Given the description of an element on the screen output the (x, y) to click on. 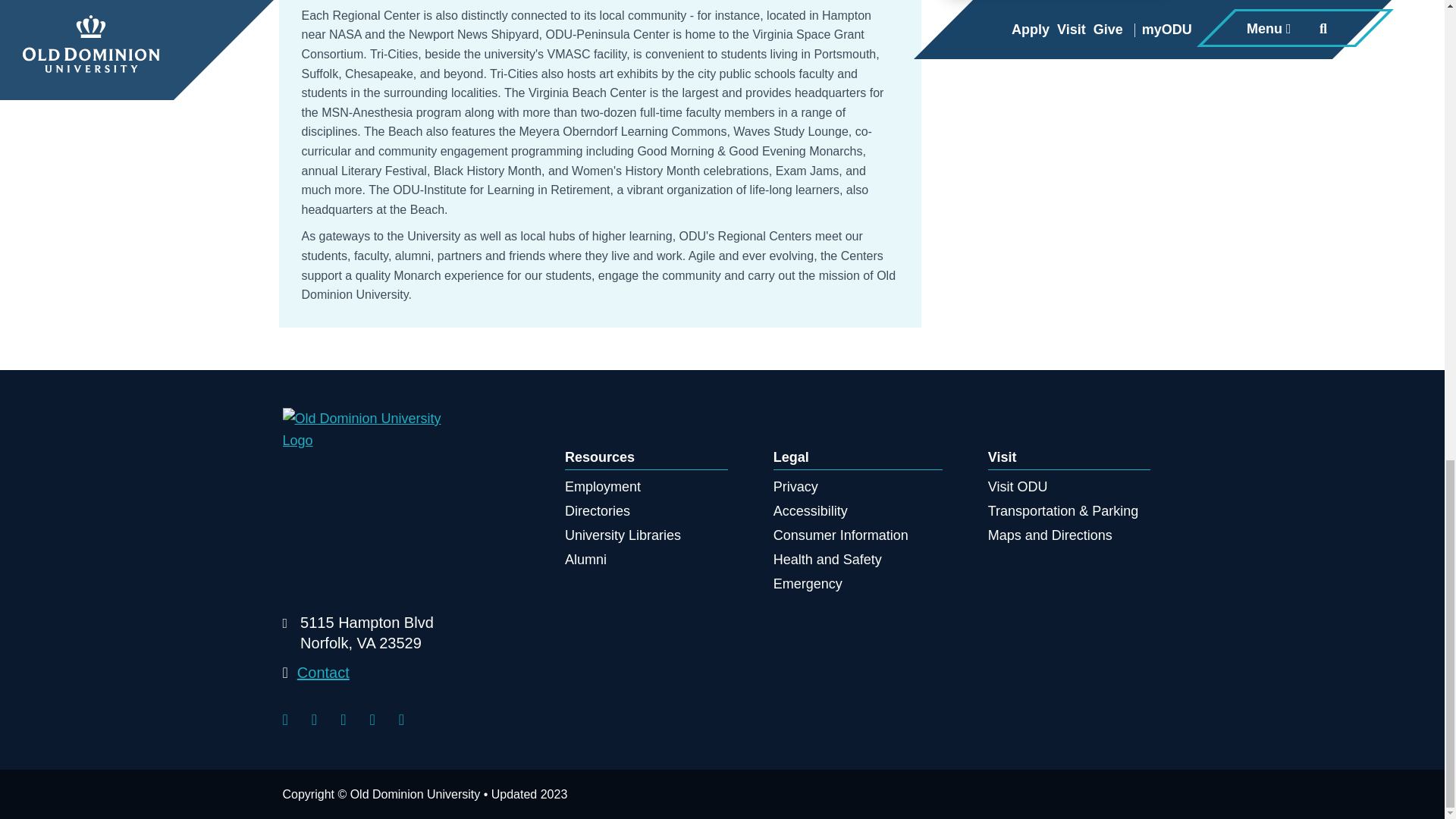
Contact (357, 637)
Employment (323, 672)
Alumni (602, 486)
Directories (585, 559)
University Libraries (597, 510)
